Given the description of an element on the screen output the (x, y) to click on. 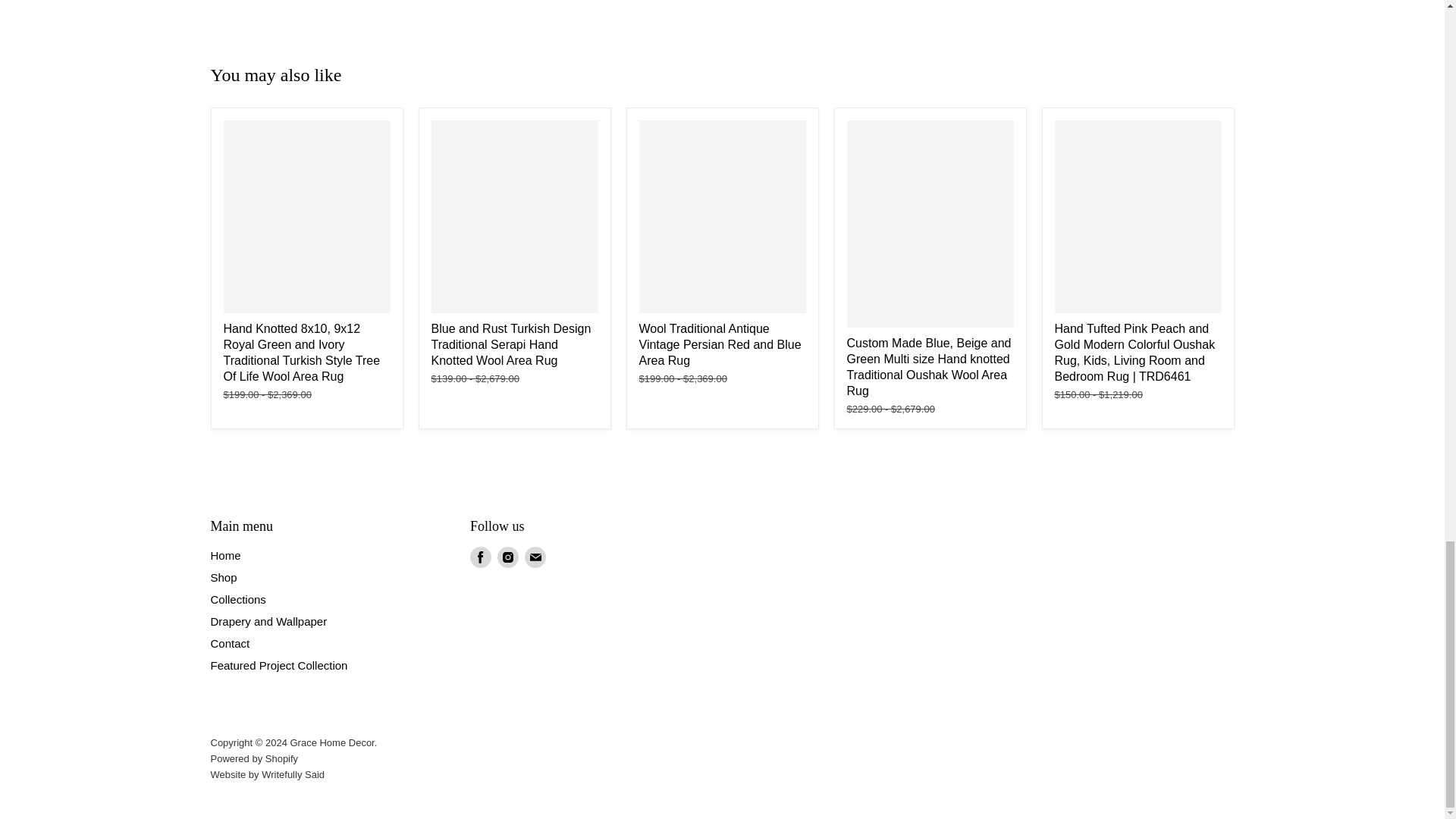
Email (535, 557)
Instagram (507, 557)
Facebook (481, 557)
